Given the description of an element on the screen output the (x, y) to click on. 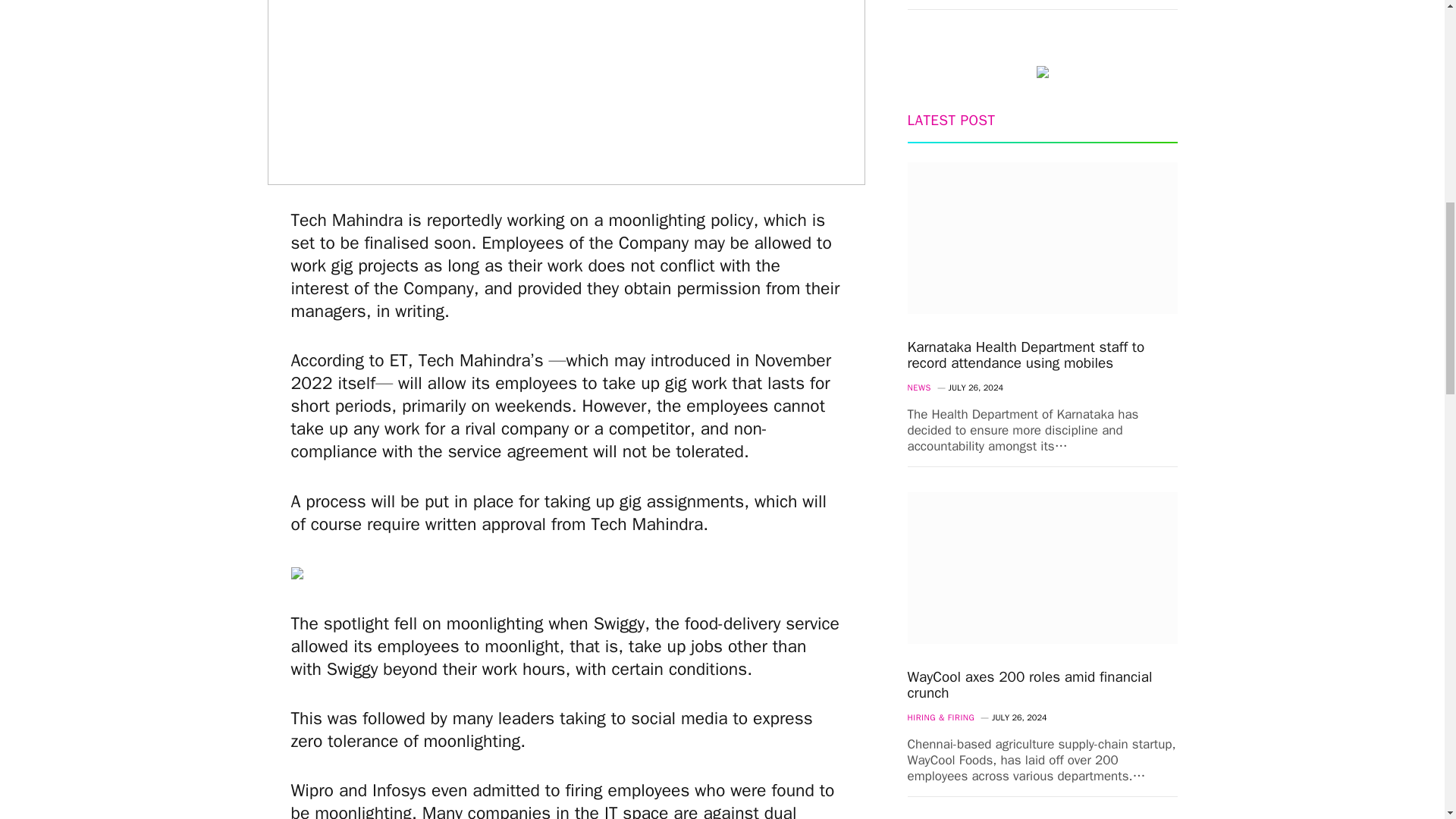
Will Tech Mahindra allow staff to take up gig work? (565, 92)
